Given the description of an element on the screen output the (x, y) to click on. 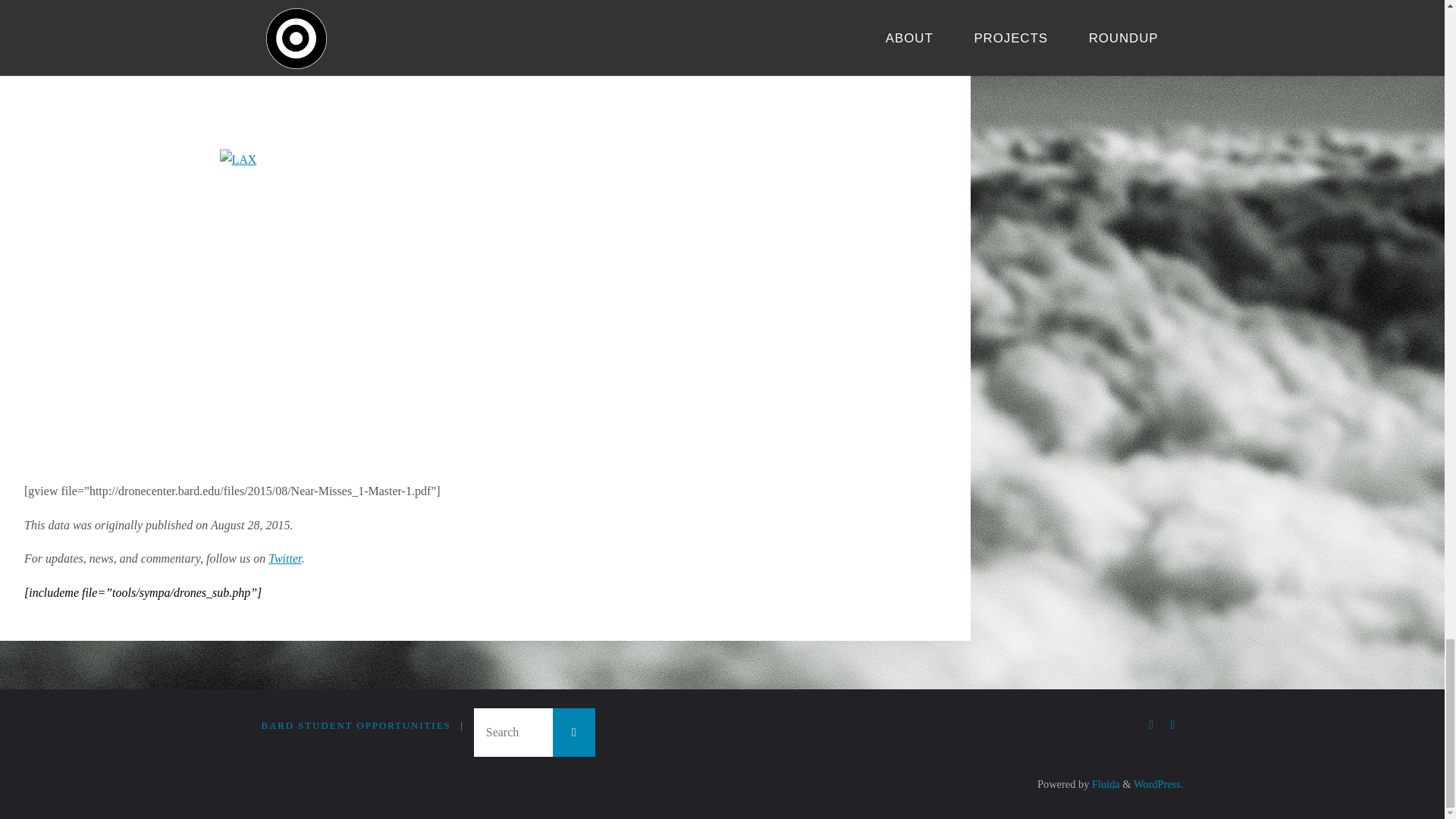
Semantic Personal Publishing Platform (1158, 784)
Twitter (1171, 725)
BARD STUDENT OPPORTUNITIES (354, 725)
WordPress. (1158, 784)
Facebook (1150, 725)
Twitter (284, 558)
Fluida (1104, 784)
Fluida WordPress Theme by Cryout Creations (1104, 784)
